Given the description of an element on the screen output the (x, y) to click on. 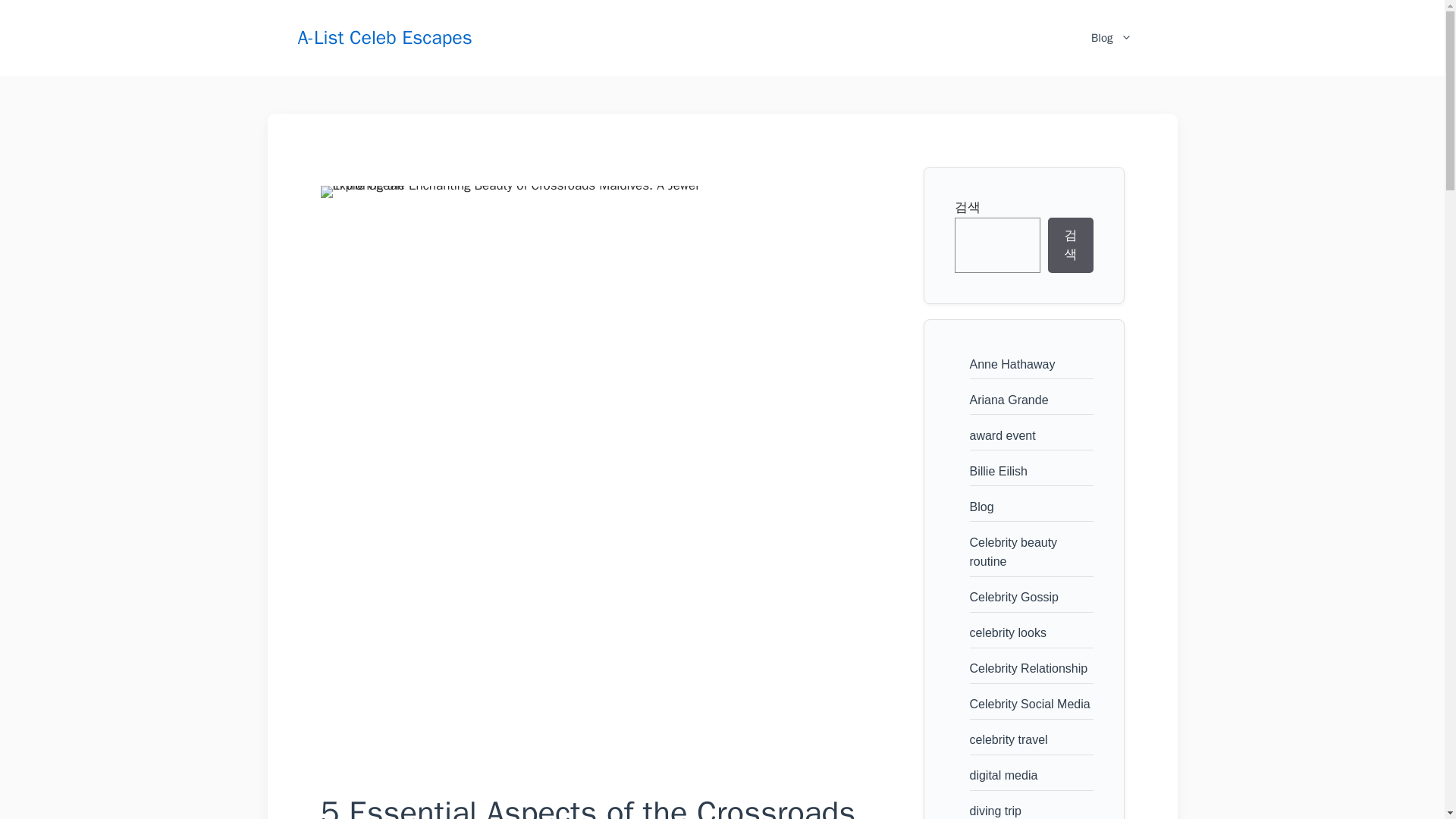
A-List Celeb Escapes (384, 37)
Blog (1111, 37)
